Given the description of an element on the screen output the (x, y) to click on. 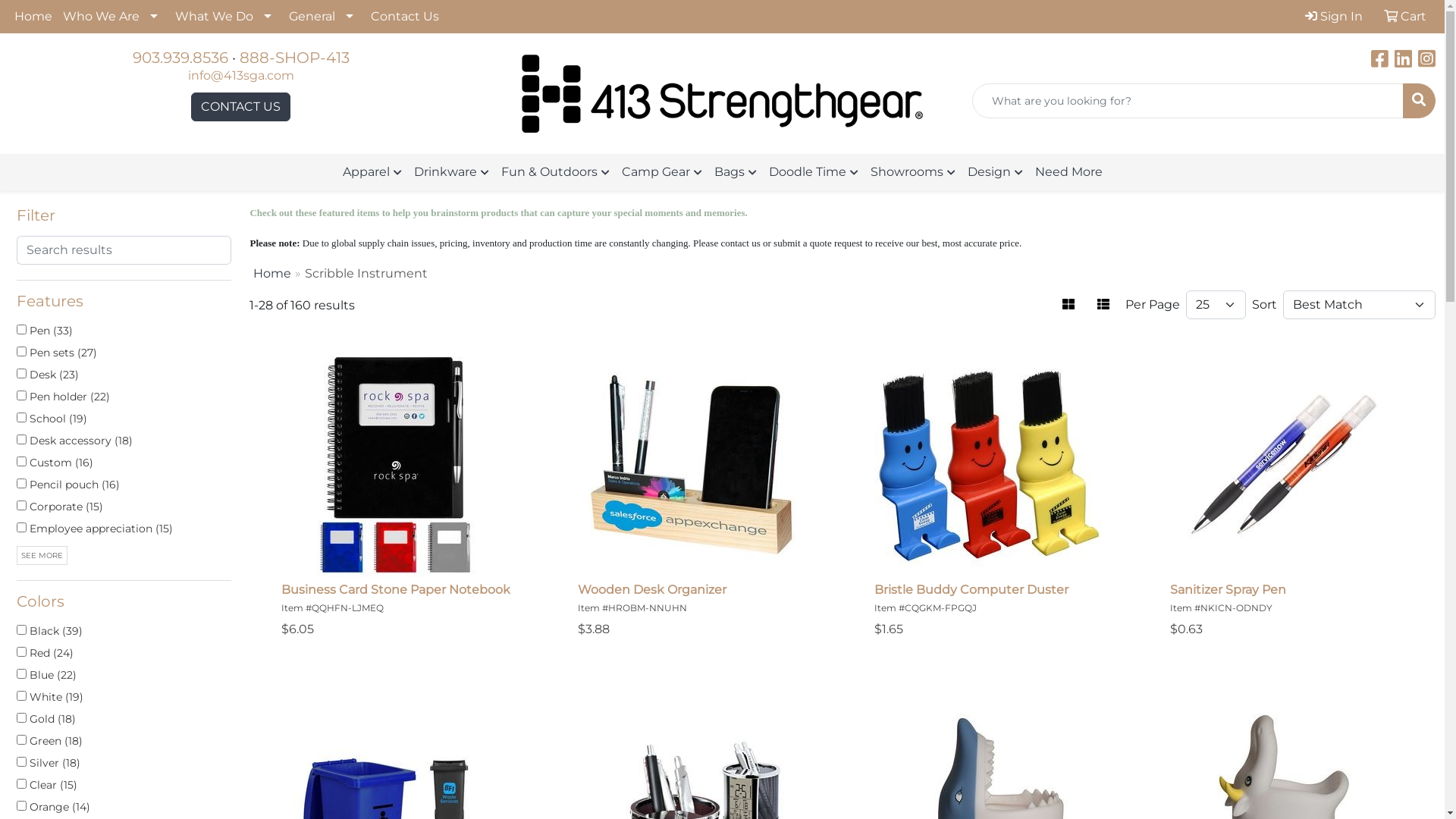
Who We Are Element type: text (113, 16)
Apparel Element type: text (371, 172)
Bags Element type: text (735, 172)
Need More Element type: text (1067, 171)
CONTACT US Element type: text (240, 106)
Cart Element type: text (1404, 16)
Visit us on Instagram Element type: hover (1426, 61)
General Element type: text (324, 16)
Contact Us Element type: text (404, 16)
Sign In Element type: text (1333, 16)
Design Element type: text (995, 172)
Visit us on LinkedIn Element type: hover (1403, 61)
Showrooms Element type: text (912, 172)
Camp Gear Element type: text (661, 172)
Visit us on Facebook Element type: hover (1379, 61)
903.939.8536 Element type: text (179, 57)
Doodle Time Element type: text (813, 172)
Home Element type: text (33, 16)
What We Do Element type: text (226, 16)
888-SHOP-413 Element type: text (294, 57)
Fun & Outdoors Element type: text (554, 172)
info@413sga.com Element type: text (241, 75)
Drinkware Element type: text (451, 172)
